Given the description of an element on the screen output the (x, y) to click on. 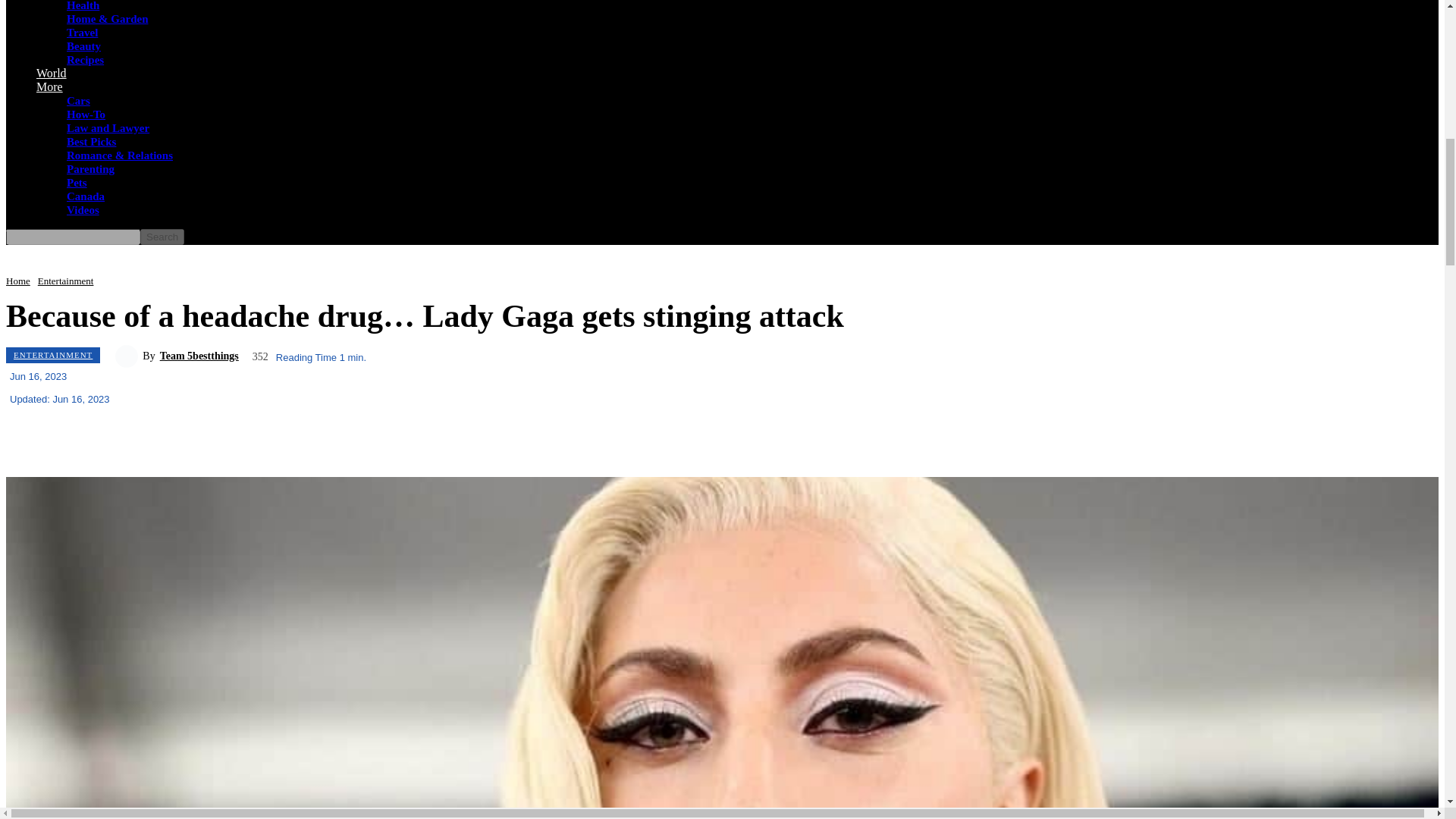
Search (161, 236)
View all posts in Entertainment (65, 280)
Team 5bestthings (128, 355)
